Given the description of an element on the screen output the (x, y) to click on. 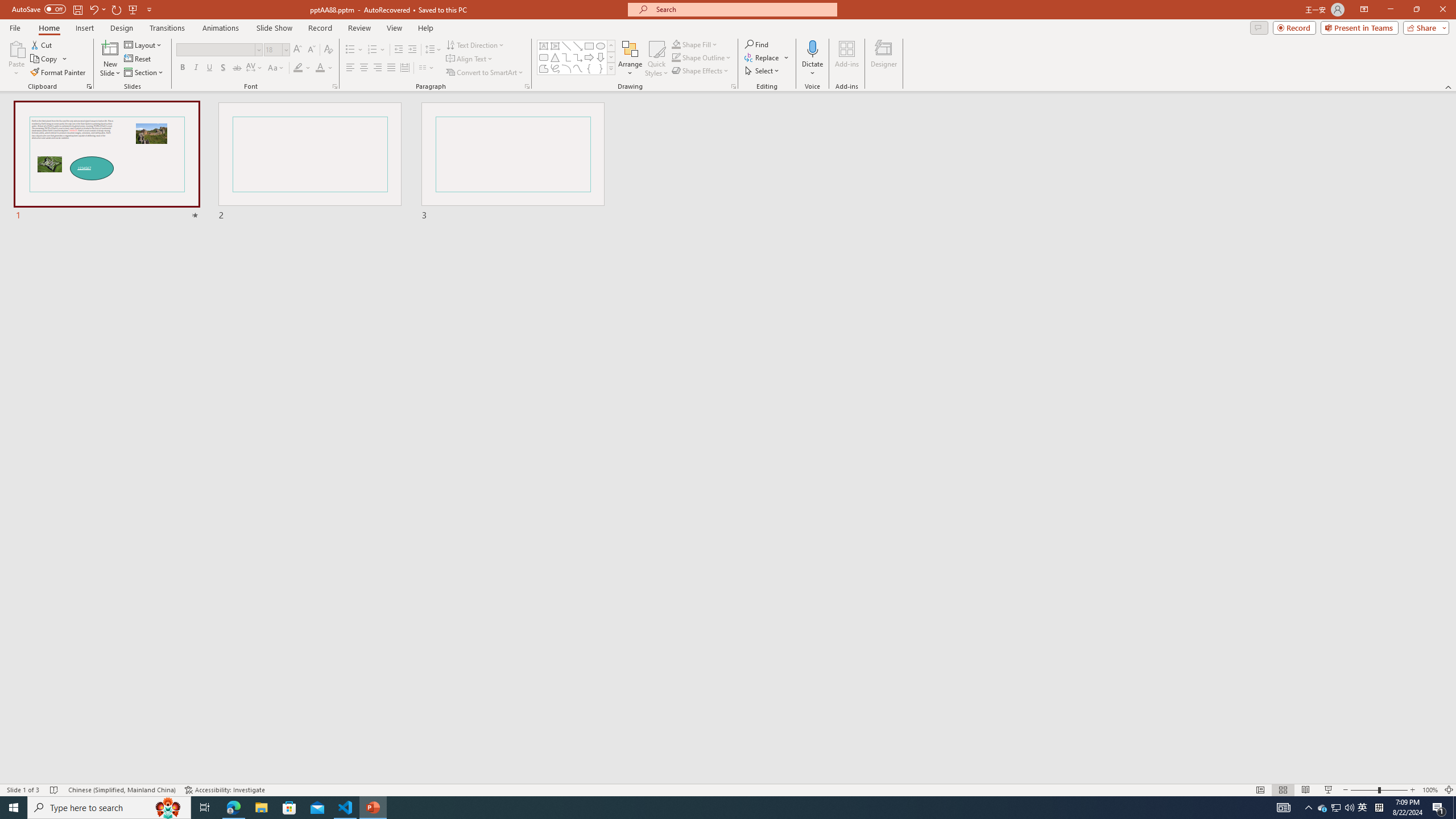
Shape Outline Teal, Accent 1 (675, 56)
